Given the description of an element on the screen output the (x, y) to click on. 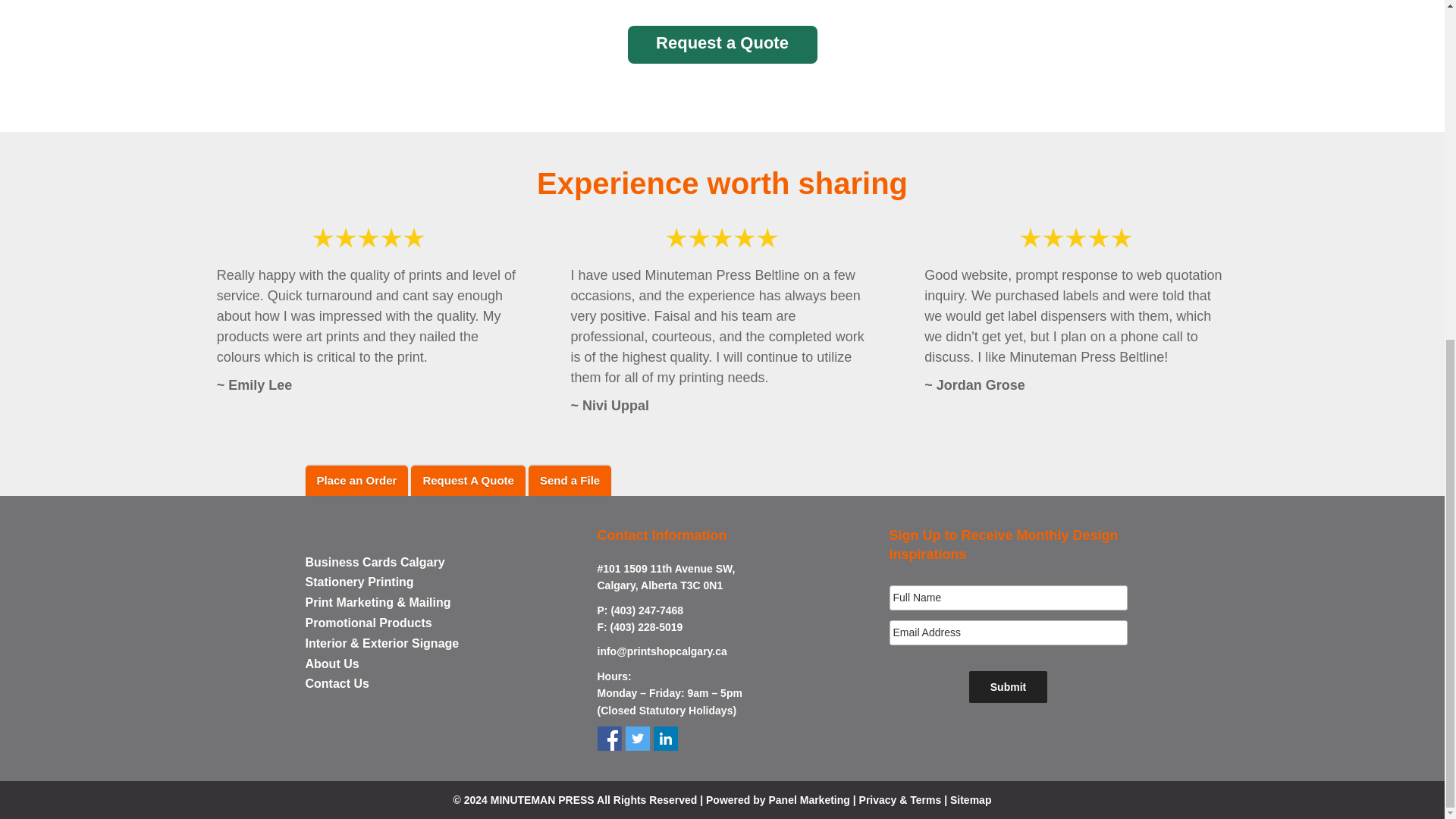
Submit (1007, 686)
